Given the description of an element on the screen output the (x, y) to click on. 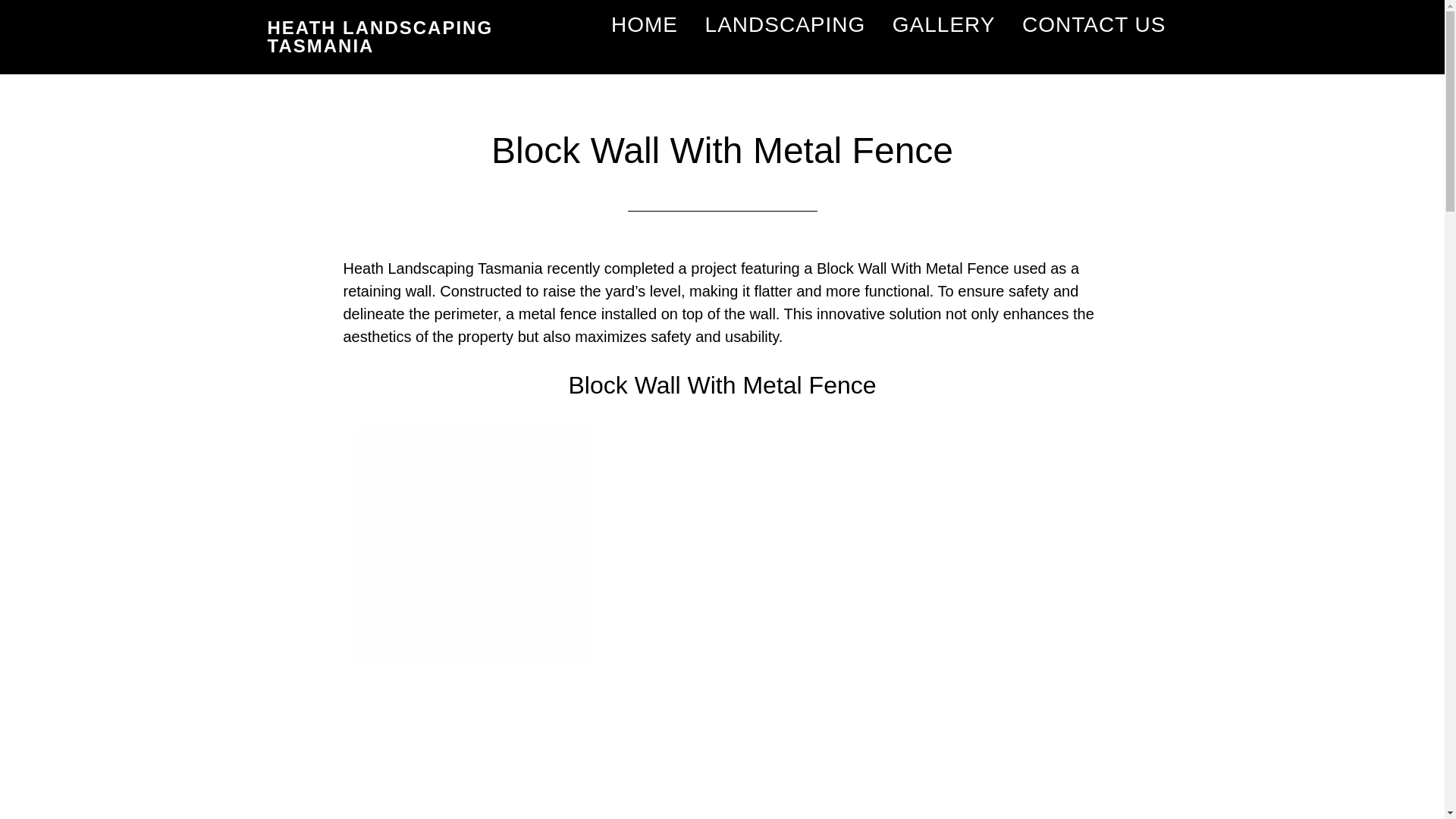
HEATH LANDSCAPING TASMANIA (379, 36)
HOME (643, 25)
GALLERY (943, 25)
CONTACT US (1093, 25)
LANDSCAPING (785, 25)
